Given the description of an element on the screen output the (x, y) to click on. 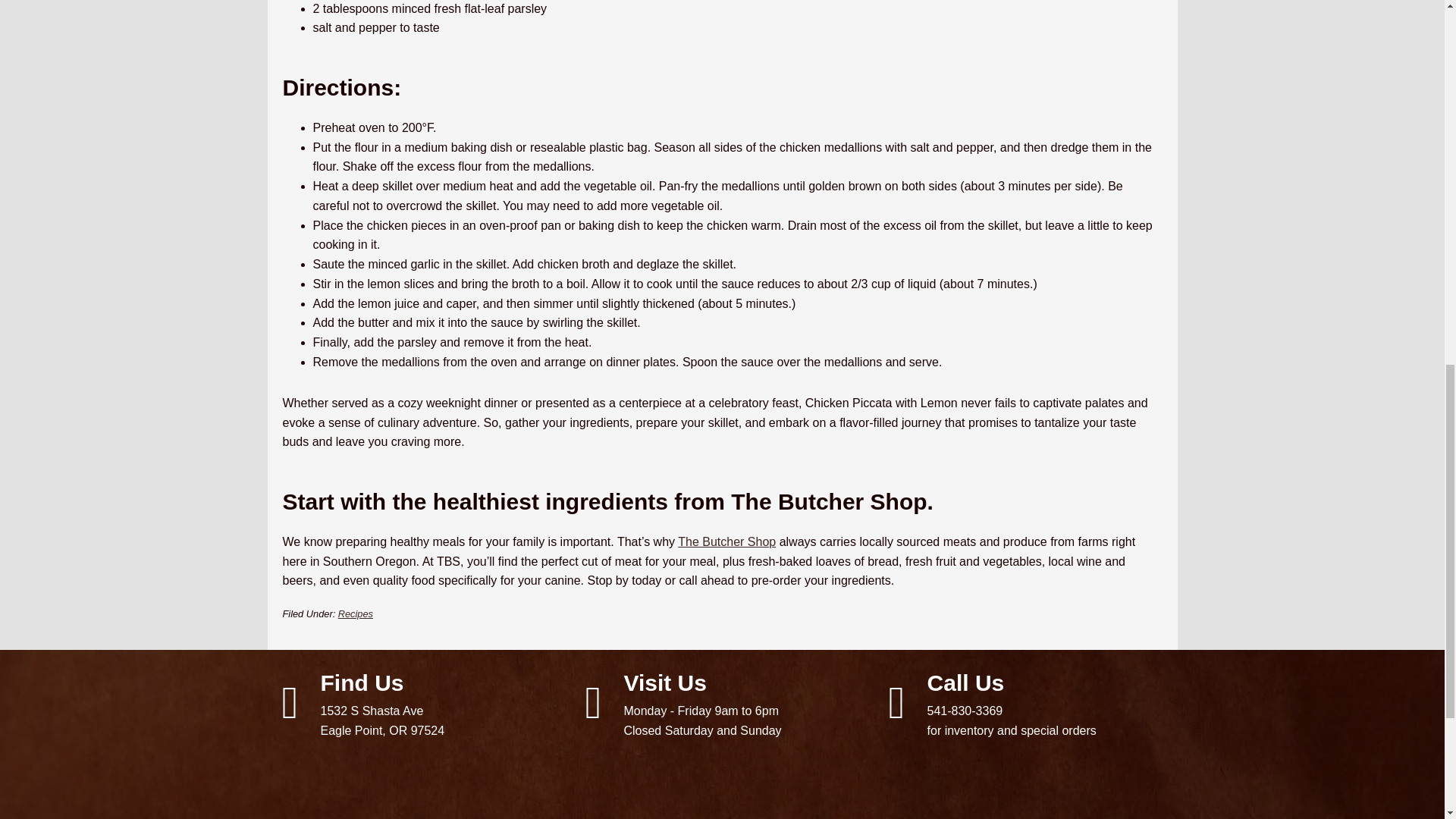
Recipes (418, 703)
The Butcher Shop (354, 613)
